Given the description of an element on the screen output the (x, y) to click on. 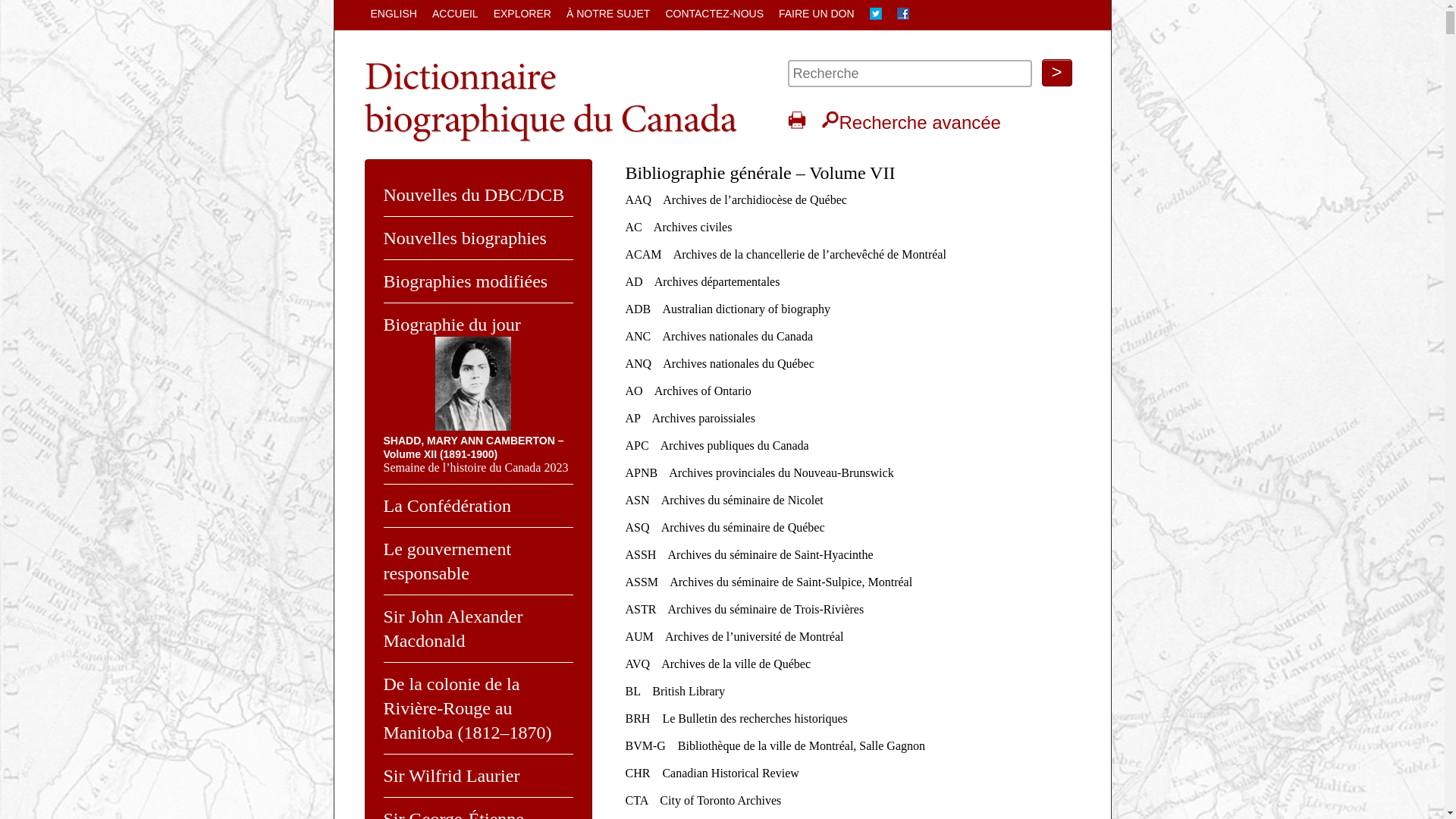
Nouvelles du DBC/DCB Element type: text (473, 194)
Biographie du jour Element type: text (451, 324)
Nouvelles biographies Element type: text (464, 237)
Version imprimable Element type: hover (796, 119)
Suivez-nous sur Facebook Element type: hover (903, 14)
ACCUEIL Element type: text (455, 13)
EXPLORER Element type: text (522, 13)
ENGLISH Element type: text (393, 13)
CONTACTEZ-NOUS Element type: text (714, 13)
Version imprimable Element type: hover (796, 122)
Suivez-nous sur Twitter Element type: hover (875, 14)
FAIRE UN DON Element type: text (816, 13)
Sir Wilfrid Laurier Element type: text (451, 775)
Le gouvernement responsable Element type: text (447, 561)
Sir John Alexander Macdonald Element type: text (453, 628)
